Given the description of an element on the screen output the (x, y) to click on. 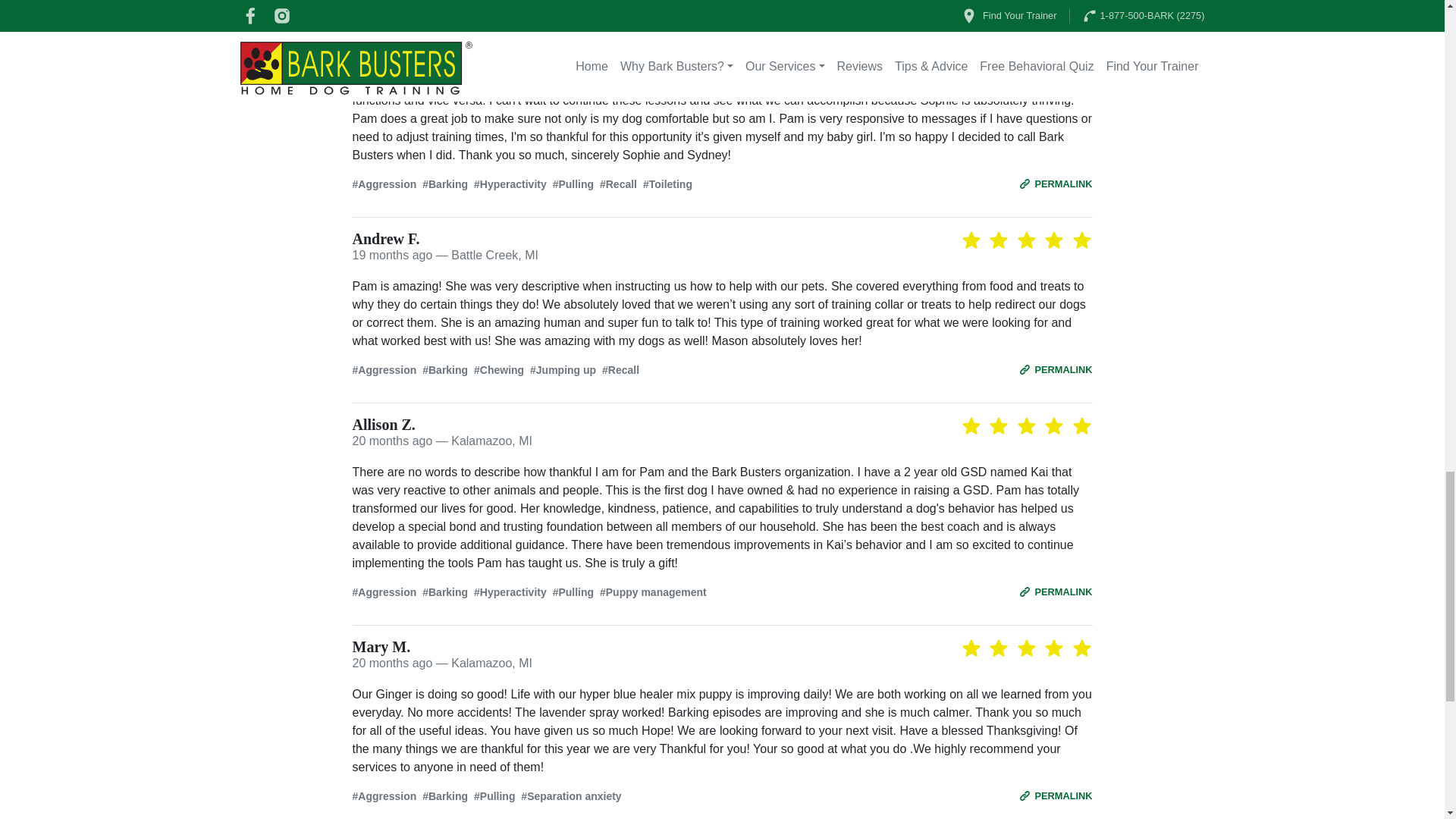
PERMALINK (1056, 591)
PERMALINK (1056, 795)
PERMALINK (1056, 369)
PERMALINK (1056, 183)
Link to review from Sydney S. (1056, 183)
Behaviors (722, 370)
Link to review from Andrew F. (1056, 369)
Behaviors (722, 183)
